Given the description of an element on the screen output the (x, y) to click on. 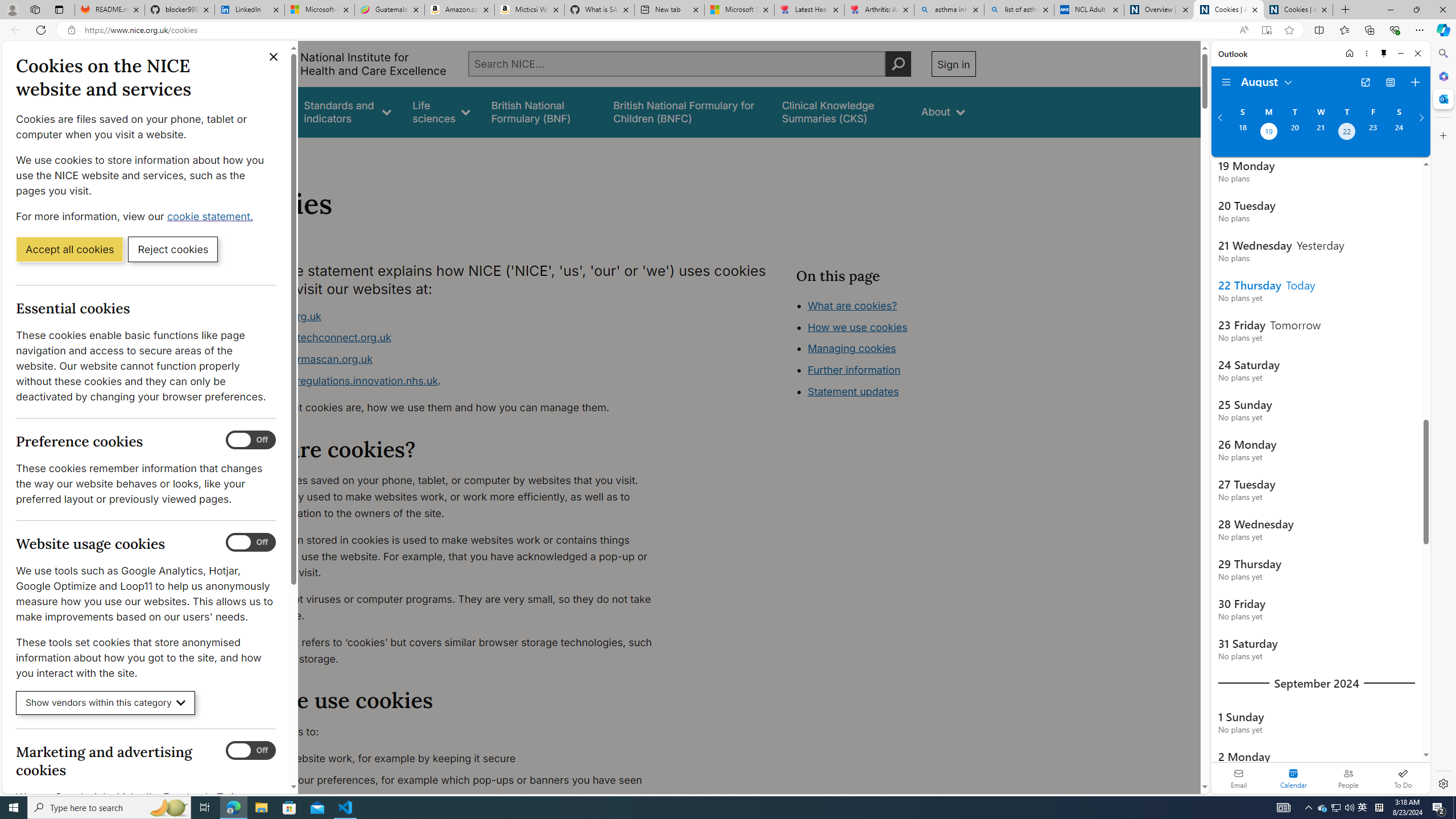
About (283, 152)
Marketing and advertising cookies (250, 750)
Close Outlook pane (1442, 98)
Monday, August 19, 2024. Date selected.  (1268, 132)
Further information (854, 369)
Friday, August 23, 2024.  (1372, 132)
Tuesday, August 20, 2024.  (1294, 132)
www.ukpharmascan.org.uk (305, 359)
Statement updates (853, 391)
